Given the description of an element on the screen output the (x, y) to click on. 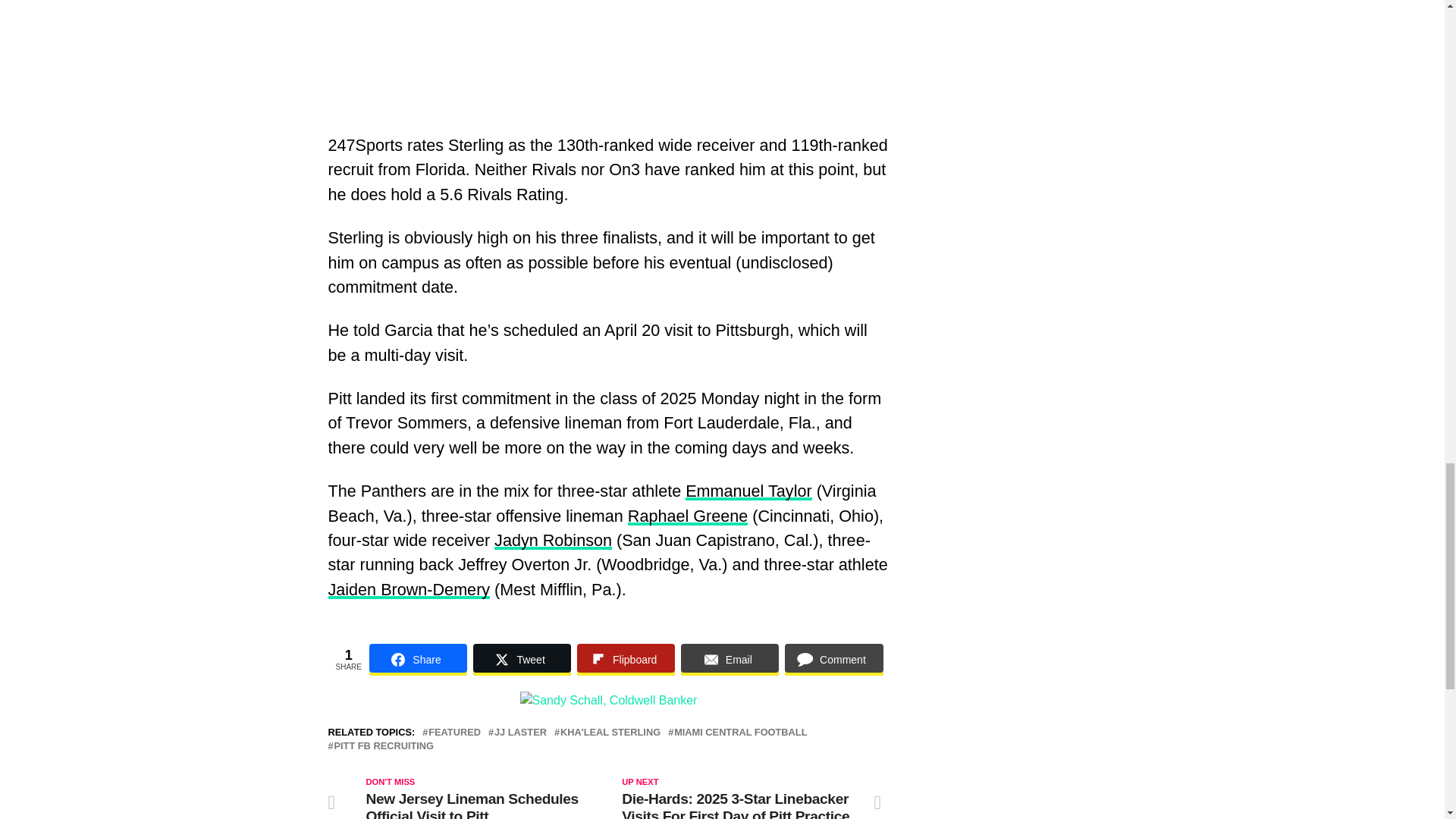
Share on Email (729, 659)
Share on Flipboard (625, 659)
Share on Tweet (521, 659)
Share on Comment (833, 659)
Share on Share (418, 659)
